Given the description of an element on the screen output the (x, y) to click on. 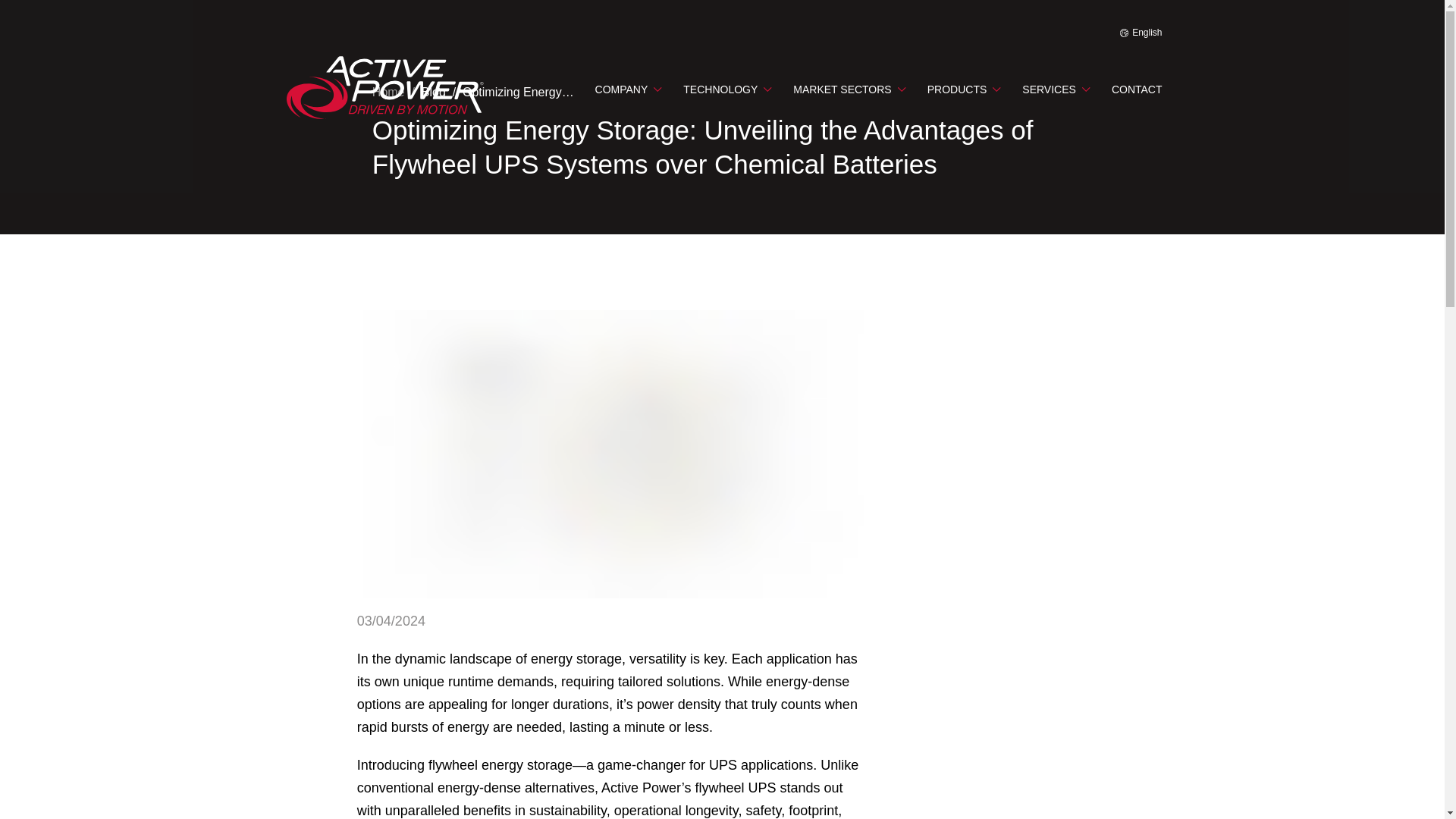
MARKET SECTORS (848, 88)
PRODUCTS (963, 88)
SERVICES (1055, 88)
CONTACT (1136, 88)
TECHNOLOGY (726, 88)
English (1140, 31)
COMPANY (628, 88)
